Given the description of an element on the screen output the (x, y) to click on. 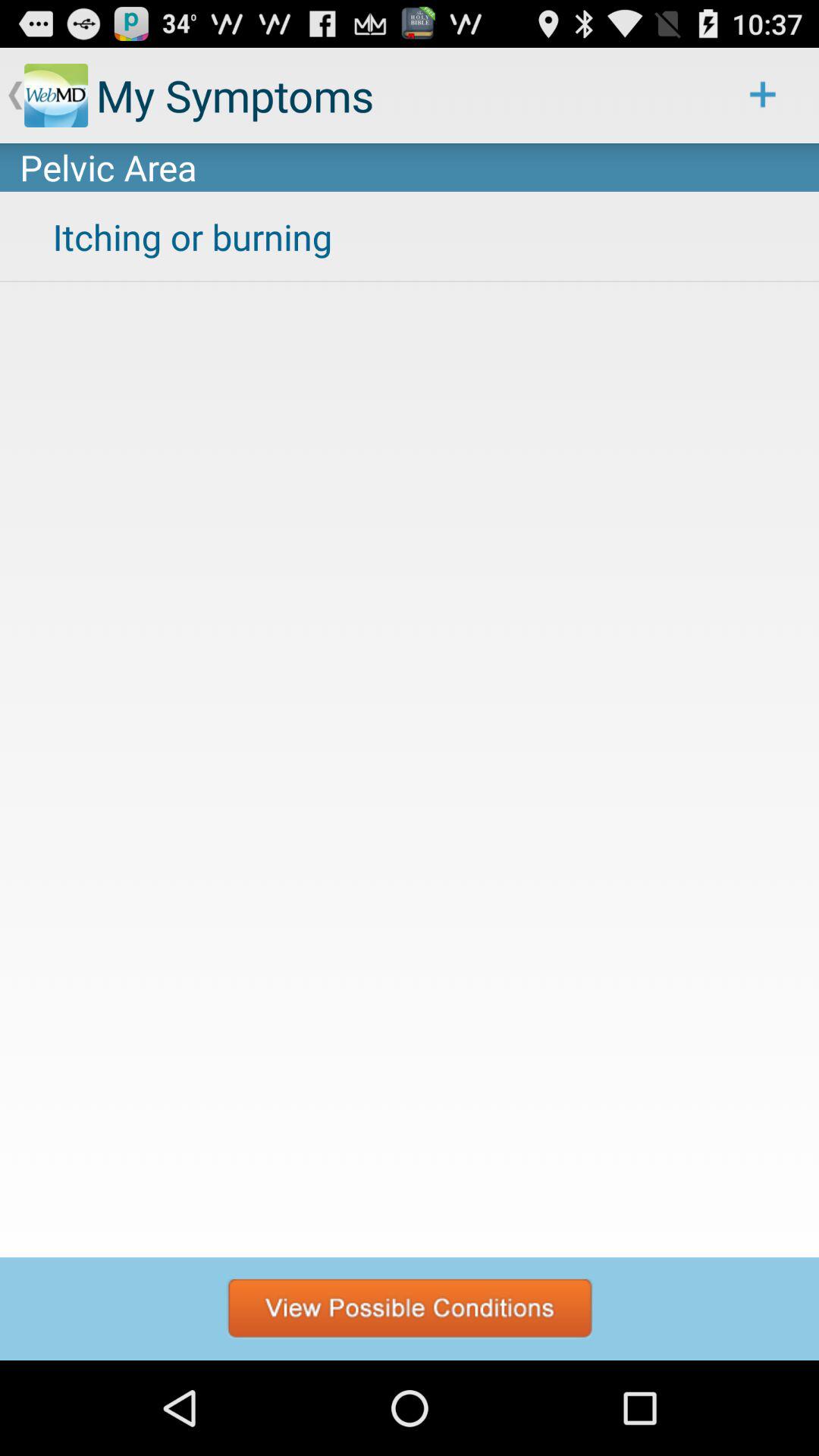
view more content (409, 1308)
